Given the description of an element on the screen output the (x, y) to click on. 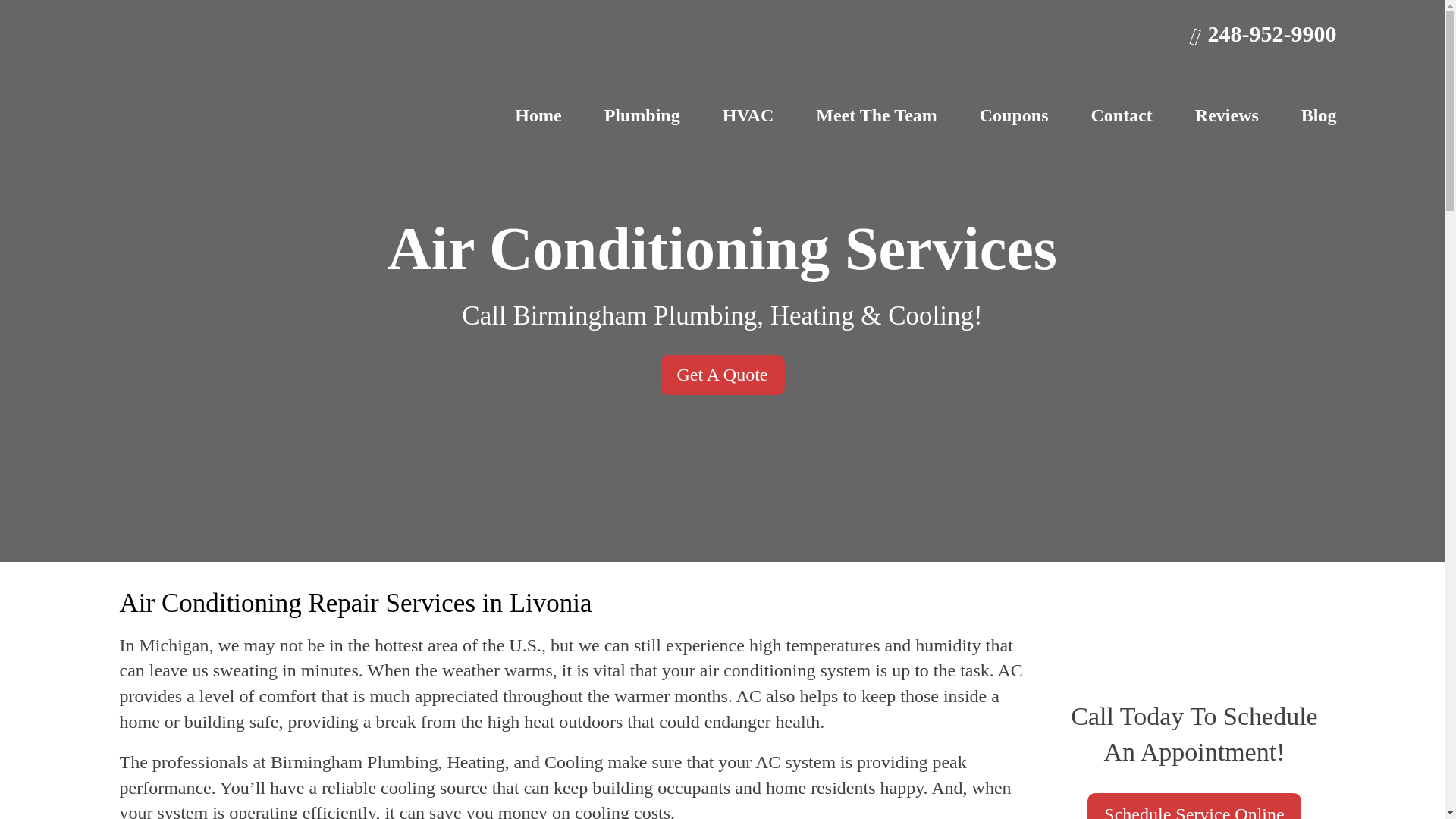
Plumbing (641, 114)
Meet The Team (876, 114)
248-952-9900 (1263, 33)
Home (537, 114)
HVAC (748, 114)
